Given the description of an element on the screen output the (x, y) to click on. 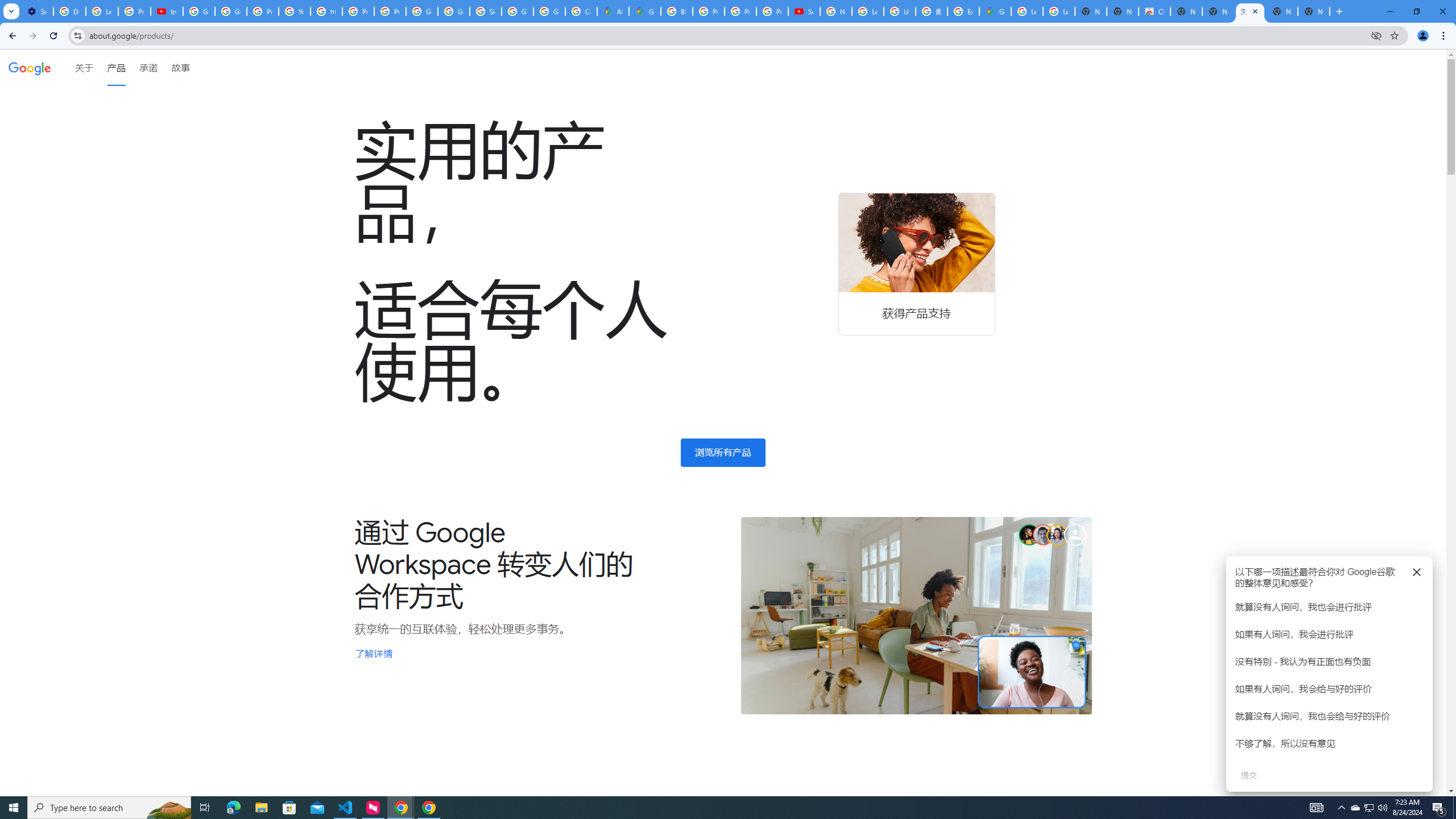
Settings - Customize profile (37, 11)
Introduction | Google Privacy Policy - YouTube (166, 11)
New Tab (1313, 11)
Privacy Help Center - Policies Help (708, 11)
Google Maps (644, 11)
